Given the description of an element on the screen output the (x, y) to click on. 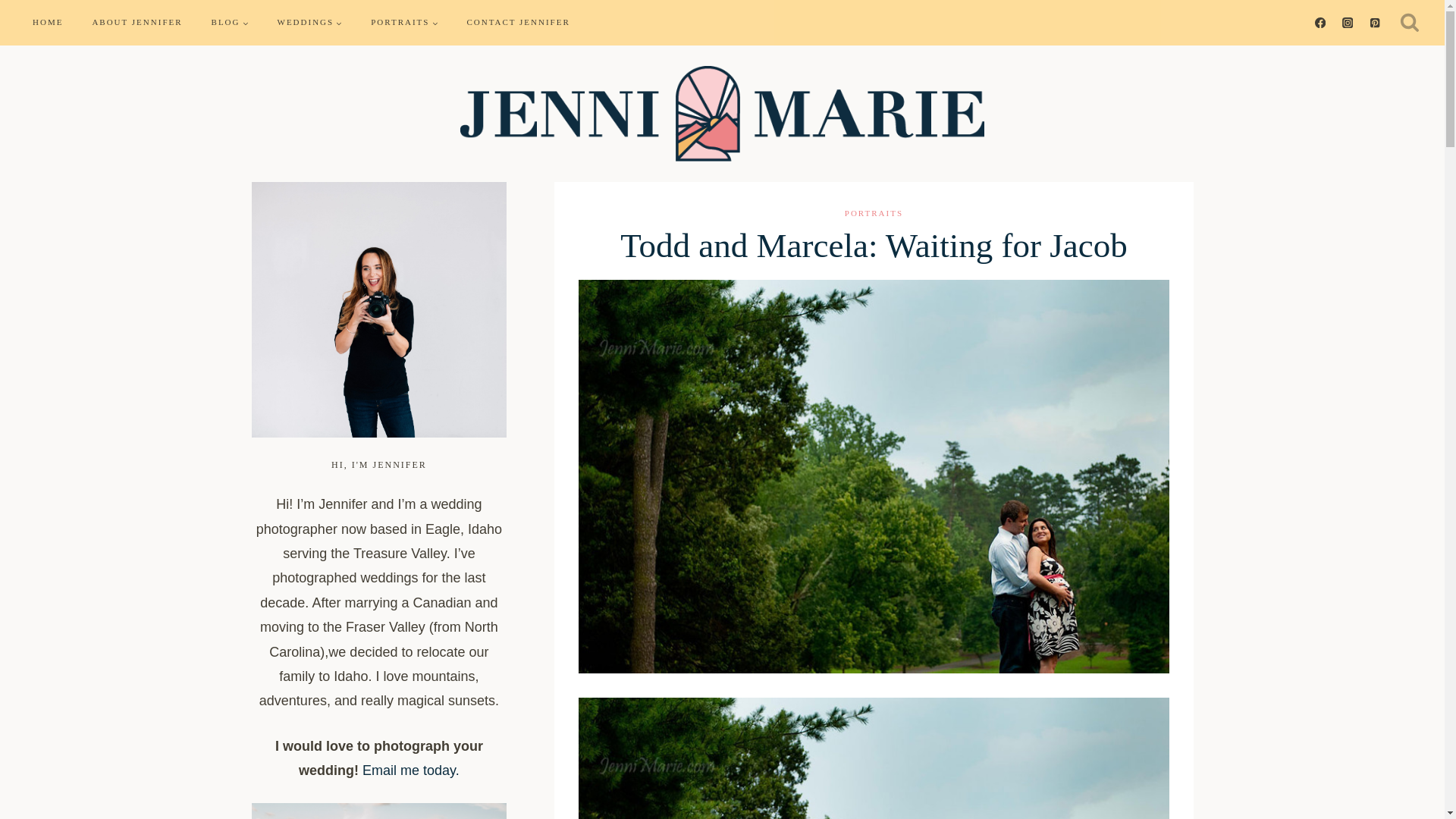
CONTACT JENNIFER (517, 22)
HOME (47, 22)
BLOG (229, 22)
PORTRAITS (873, 212)
ABOUT JENNIFER (136, 22)
PORTRAITS (403, 22)
WEDDINGS (309, 22)
